Given the description of an element on the screen output the (x, y) to click on. 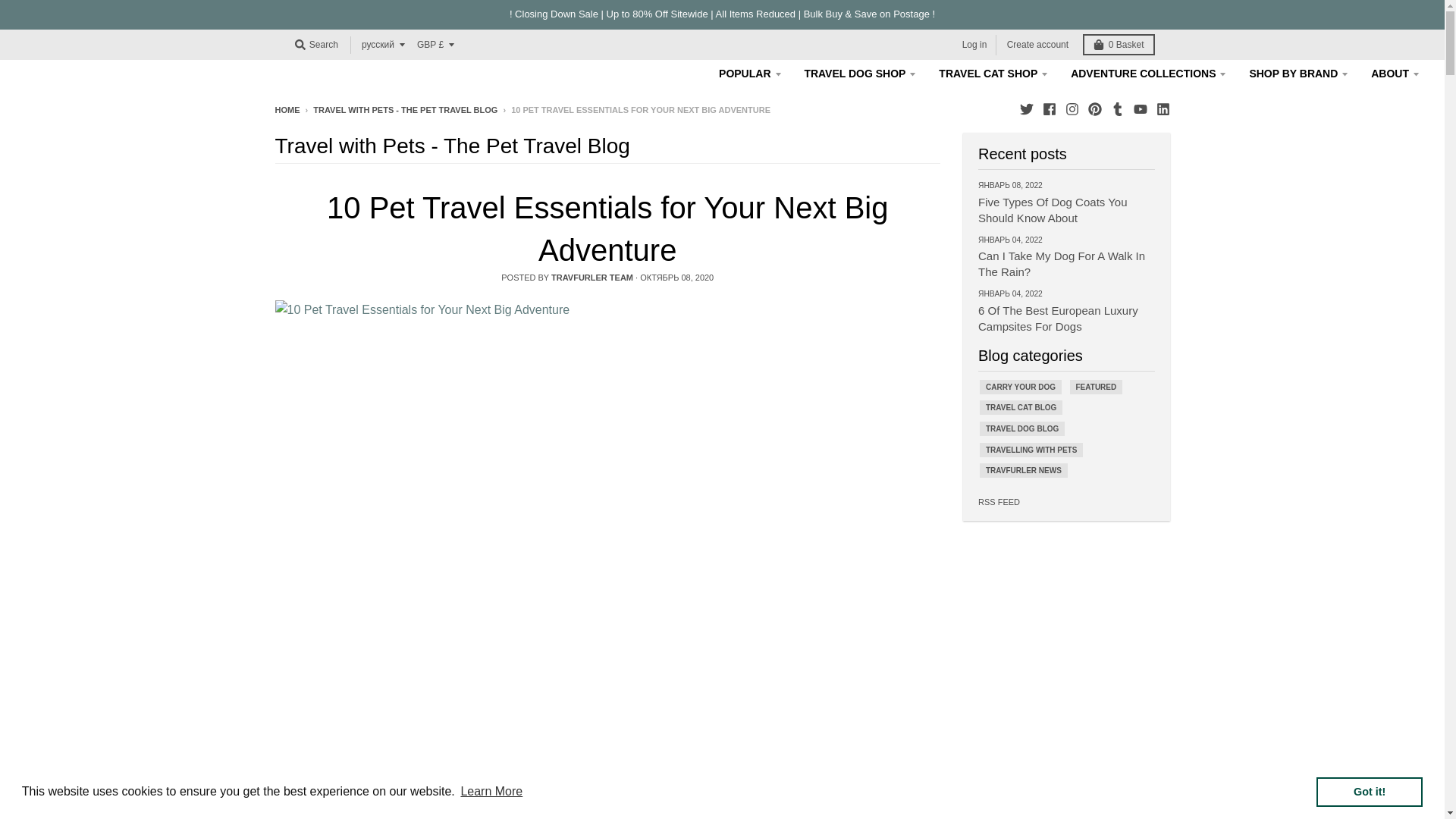
Learn More (491, 791)
Facebook - Travfurler (1048, 109)
YouTube - Travfurler (1139, 109)
Tumblr - Travfurler (1116, 109)
LinkedIn - Travfurler (1162, 109)
Back to the homepage (287, 109)
Twitter - Travfurler (1025, 109)
Pinterest - Travfurler (1093, 109)
Search (315, 44)
Got it! (1369, 791)
Instagram - Travfurler (1071, 109)
